Given the description of an element on the screen output the (x, y) to click on. 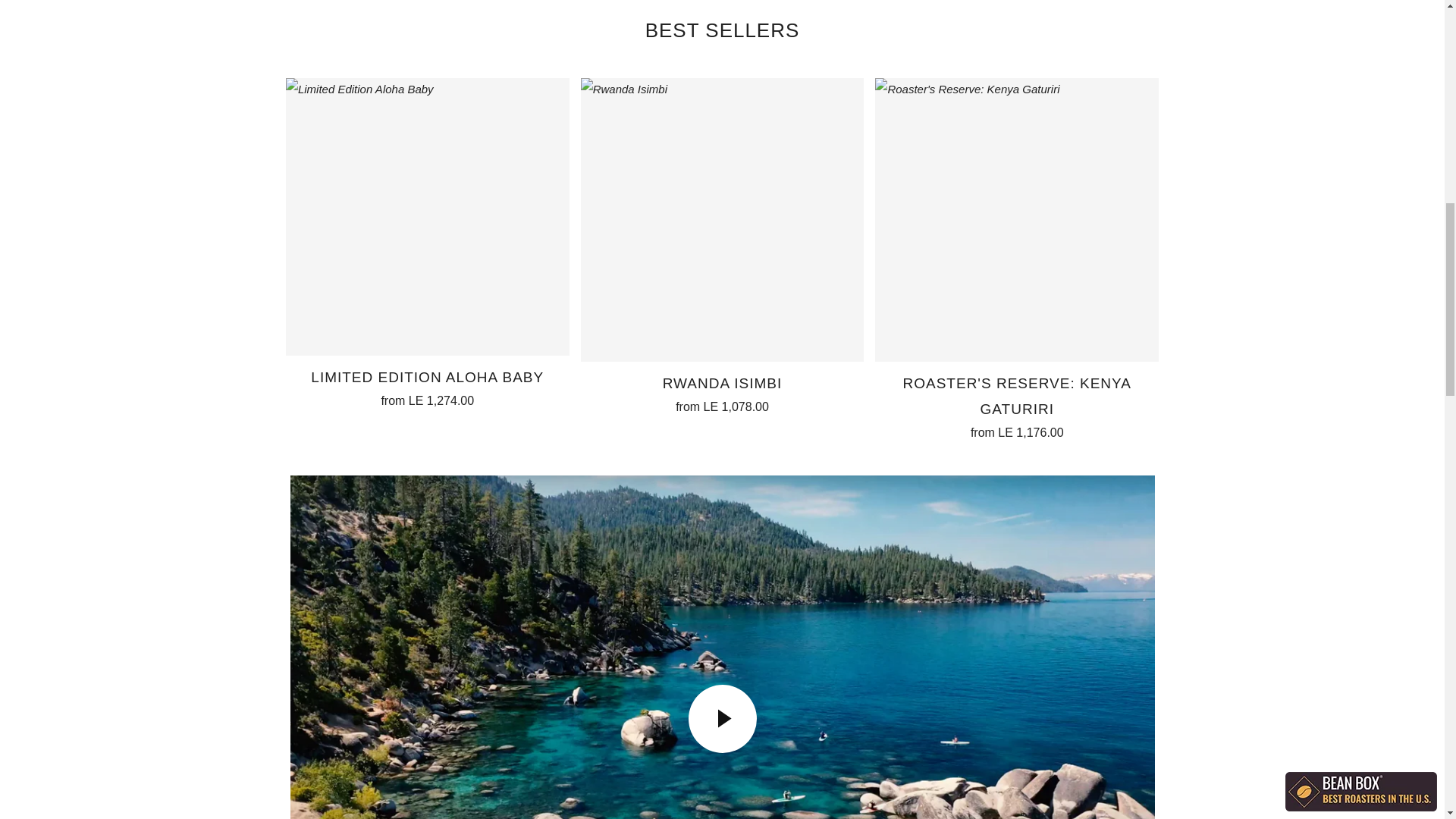
Limited Edition Aloha Baby (427, 385)
Roaster's Reserve: Kenya Gaturiri (1016, 404)
Rwanda Isimbi (722, 219)
Roaster's Reserve: Kenya Gaturiri (1016, 219)
Rwanda Isimbi (722, 392)
Limited Edition Aloha Baby (427, 216)
